Given the description of an element on the screen output the (x, y) to click on. 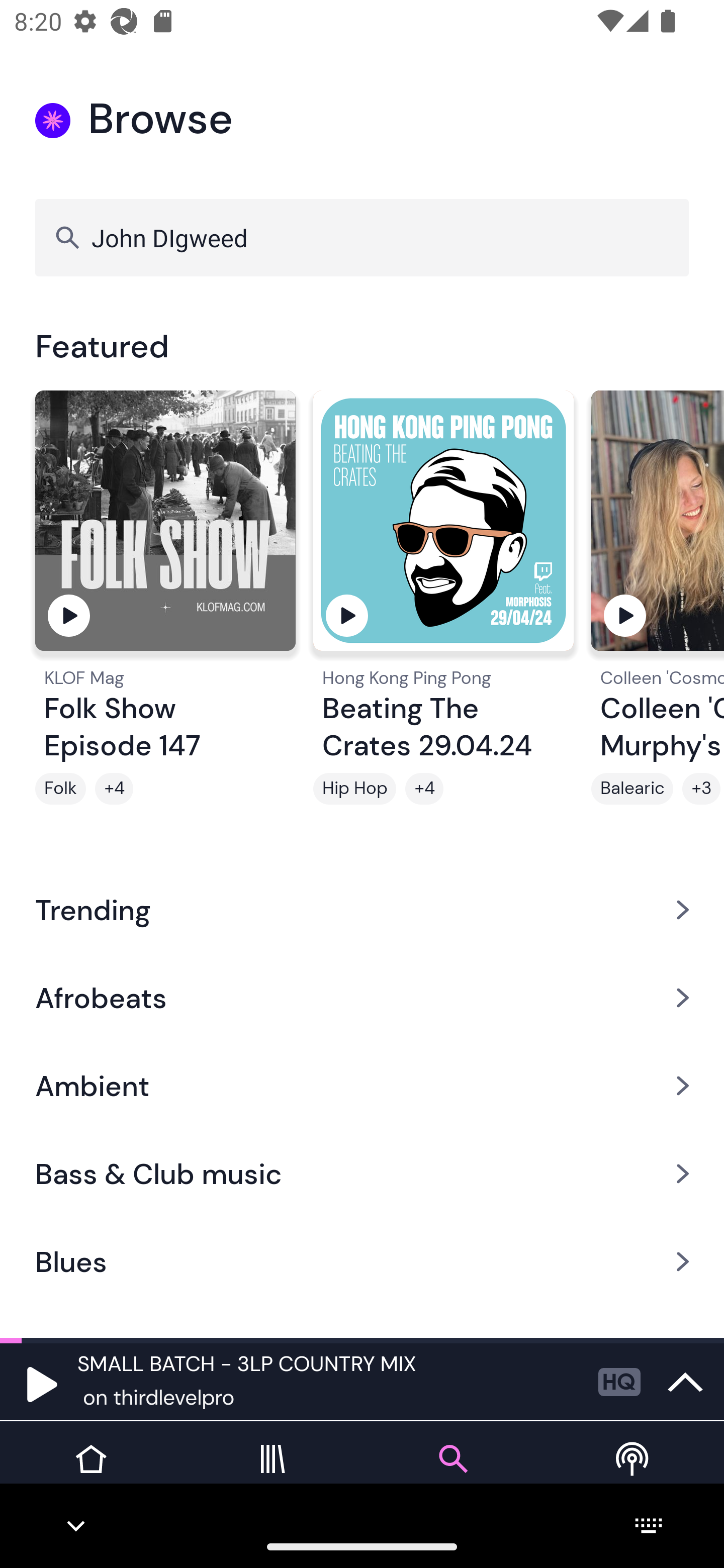
John DIgweed (361, 237)
Folk (60, 788)
Hip Hop (354, 788)
Balearic (632, 788)
Trending (361, 909)
Afrobeats (361, 997)
Ambient (361, 1085)
Bass & Club music (361, 1174)
Blues (361, 1262)
Home tab (90, 1473)
Library tab (271, 1473)
Browse tab (452, 1473)
Live tab (633, 1473)
